Given the description of an element on the screen output the (x, y) to click on. 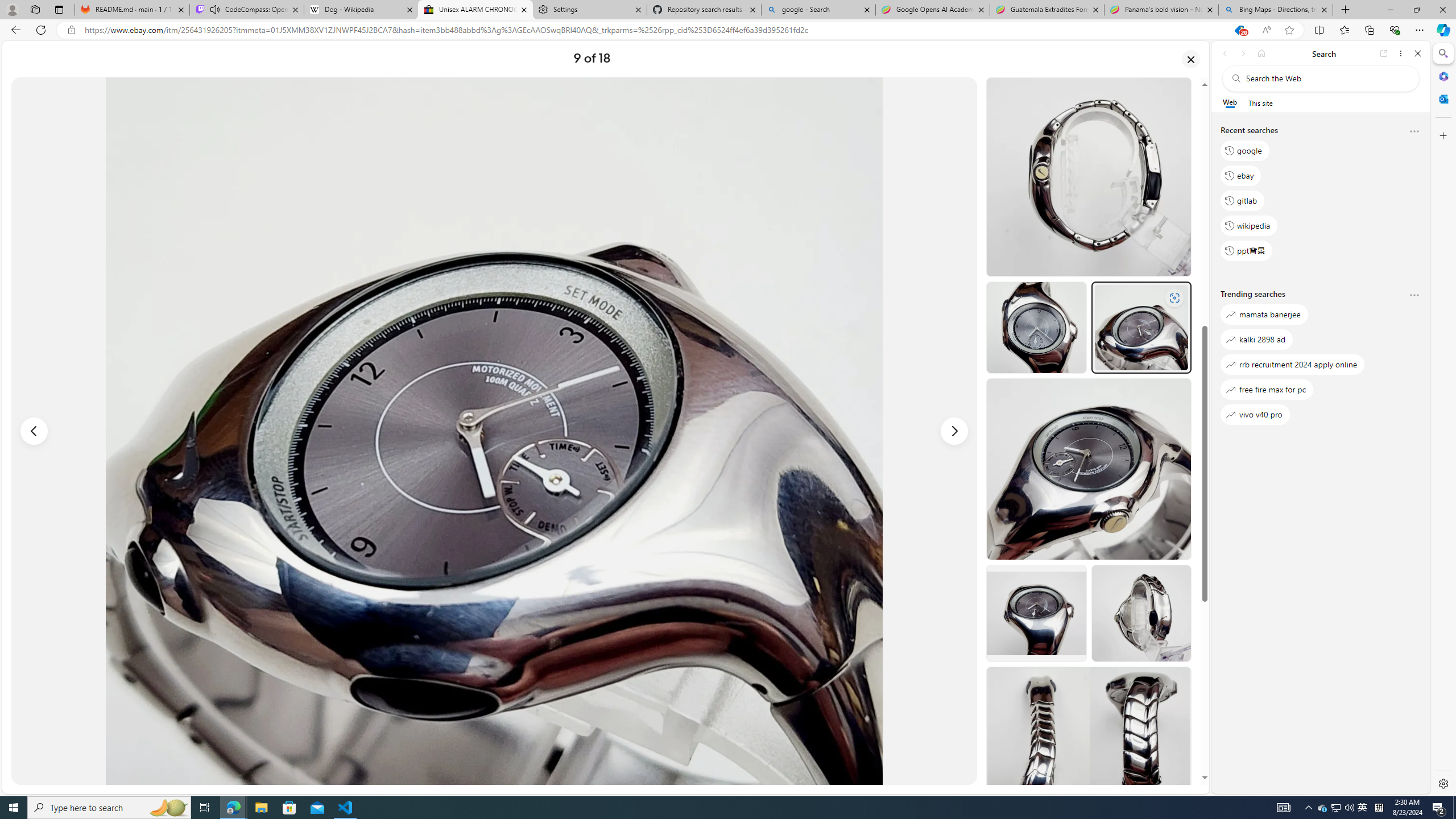
Dog - Wikipedia (360, 9)
You have the best price! Shopping in Microsoft Edge, 20 (1239, 29)
Picture 9 of 18 (493, 430)
